Given the description of an element on the screen output the (x, y) to click on. 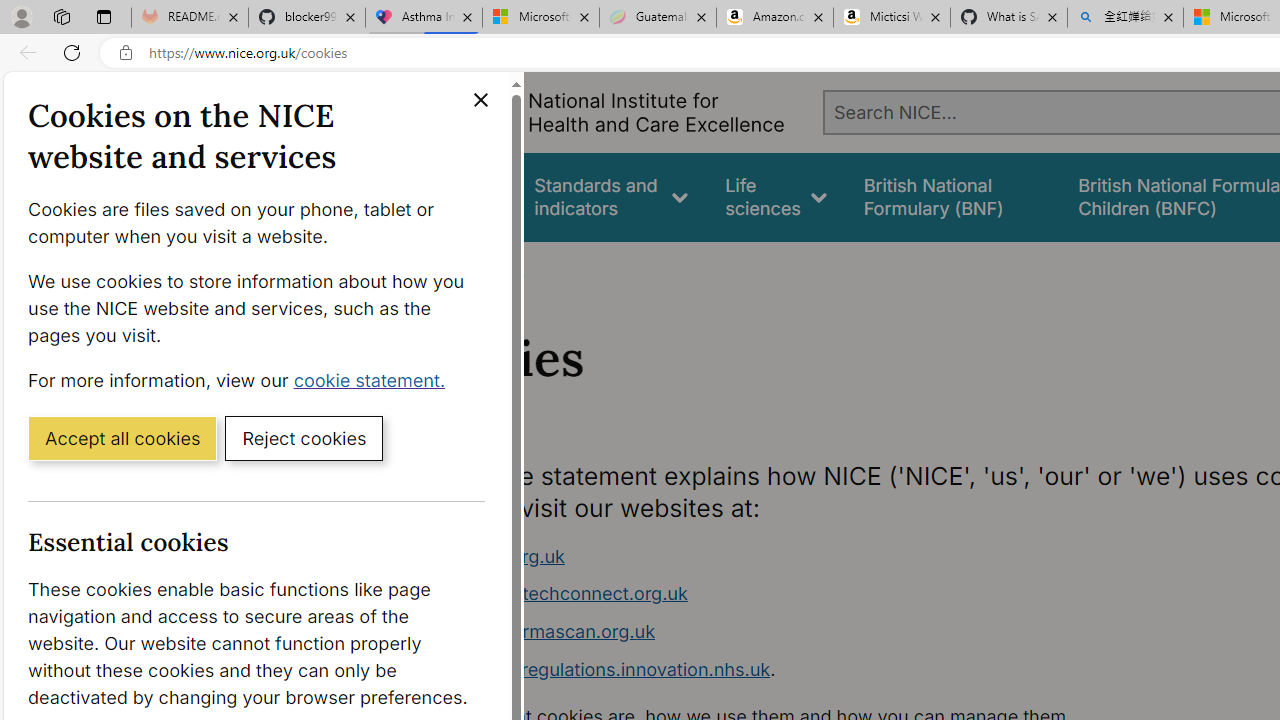
Accept all cookies (122, 437)
cookie statement. (Opens in a new window) (373, 379)
www.healthtechconnect.org.uk (554, 593)
Life sciences (776, 196)
www.ukpharmascan.org.uk (796, 632)
